Given the description of an element on the screen output the (x, y) to click on. 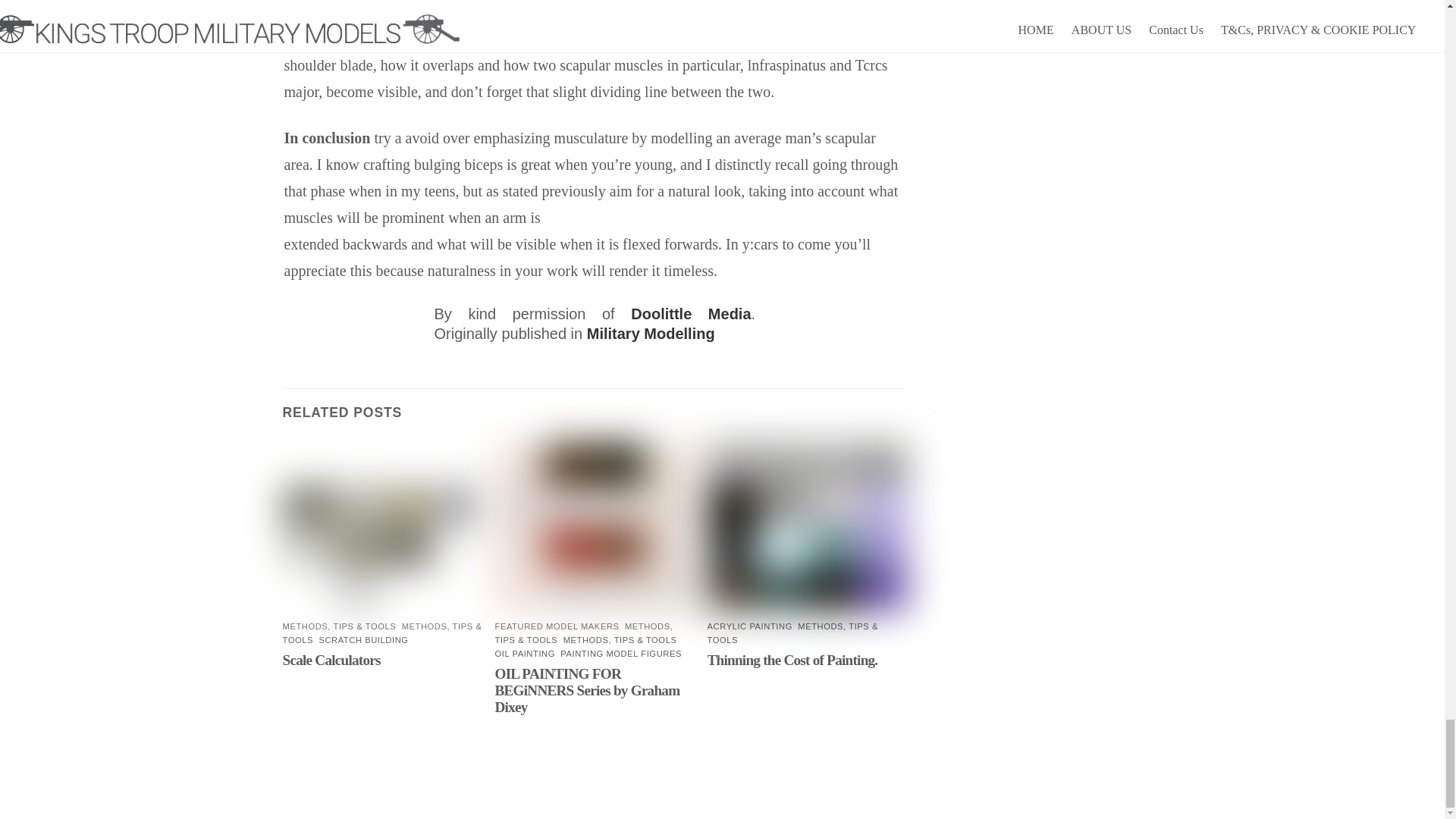
PAINTING MODEL FIGURES (620, 653)
SCRATCH BUILDING (362, 639)
Slide1 (381, 526)
Thinning the Cost of Painting. (792, 659)
Scale Calculators (331, 659)
OIL PAINTING FOR BEGiNNERS Series by Graham Dixey (587, 689)
Doolittle Media (690, 313)
OIL PAINTING (524, 653)
FEATURED MODEL MAKERS (557, 625)
ACRYLIC PAINTING (749, 625)
